Given the description of an element on the screen output the (x, y) to click on. 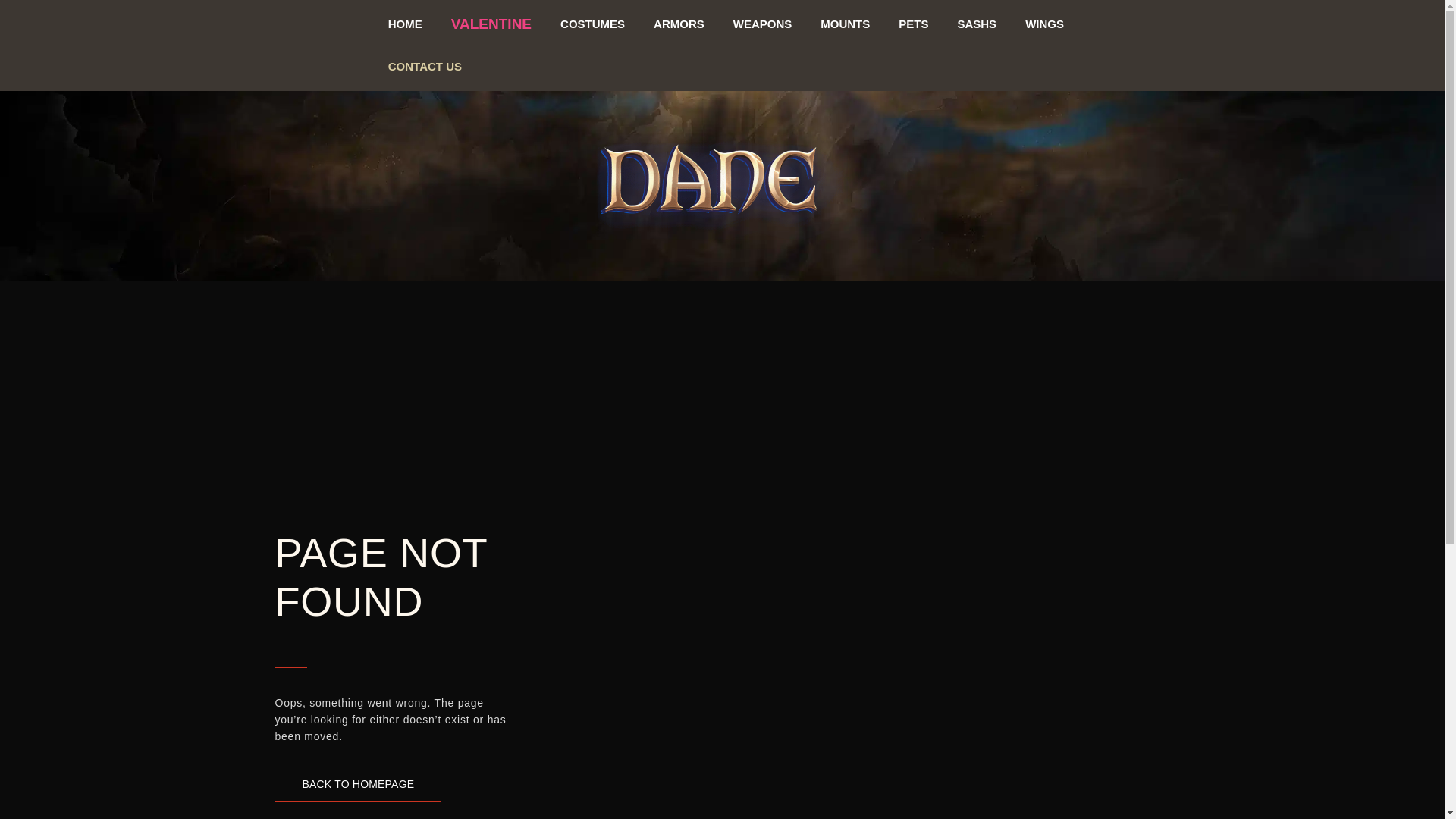
HOME (403, 24)
PETS (918, 22)
SASHS (983, 22)
WEAPONS (762, 23)
WINGS (1055, 22)
ARMORS (677, 23)
CONTACT US (411, 66)
COSTUMES (590, 23)
VALENTINE (489, 24)
MOUNTS (847, 23)
